Given the description of an element on the screen output the (x, y) to click on. 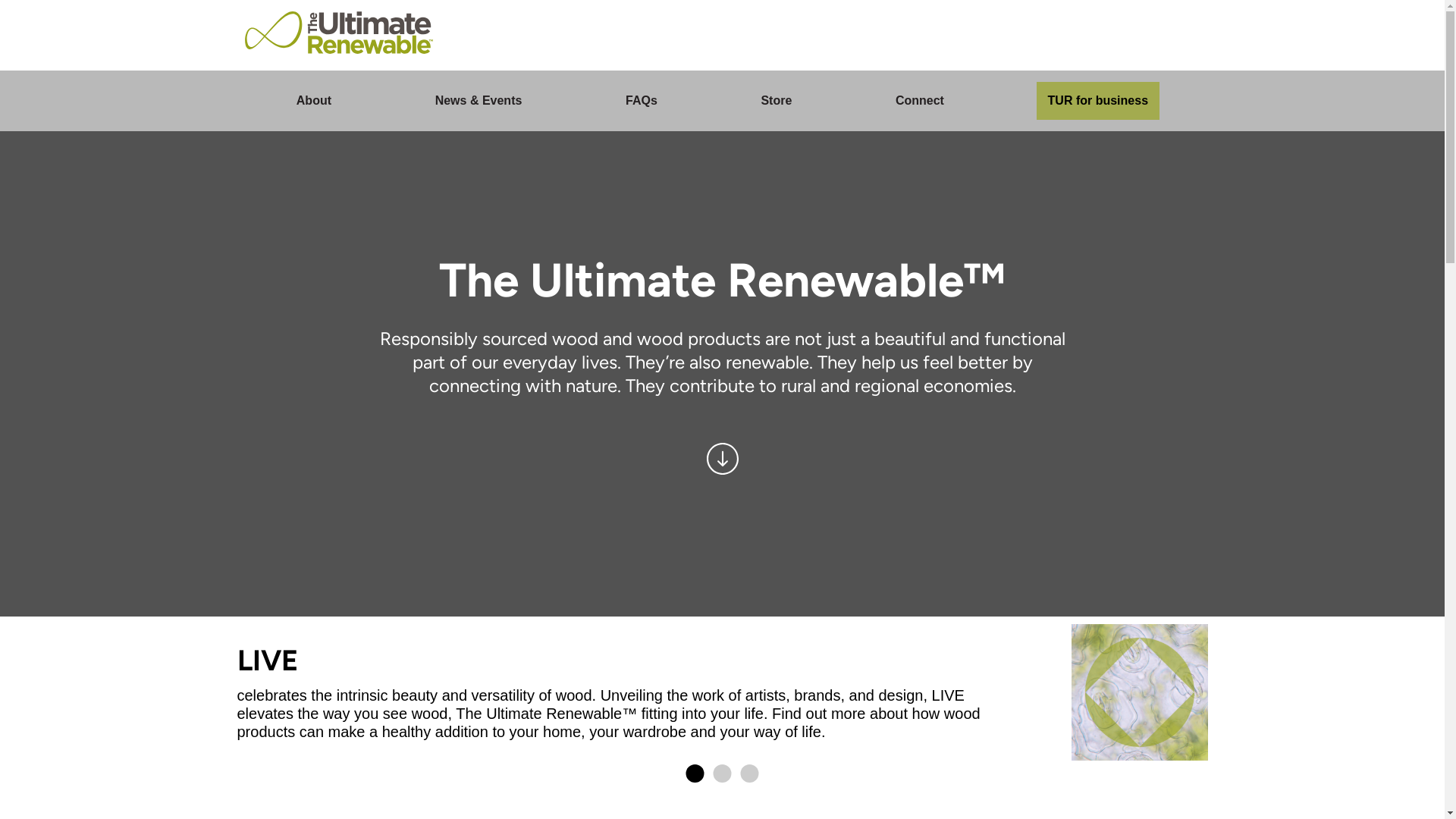
About Element type: text (313, 100)
FAQs Element type: text (641, 100)
Connect Element type: text (919, 100)
News & Events Element type: text (478, 100)
Store Element type: text (776, 100)
TUR for business Element type: text (1097, 100)
